Given the description of an element on the screen output the (x, y) to click on. 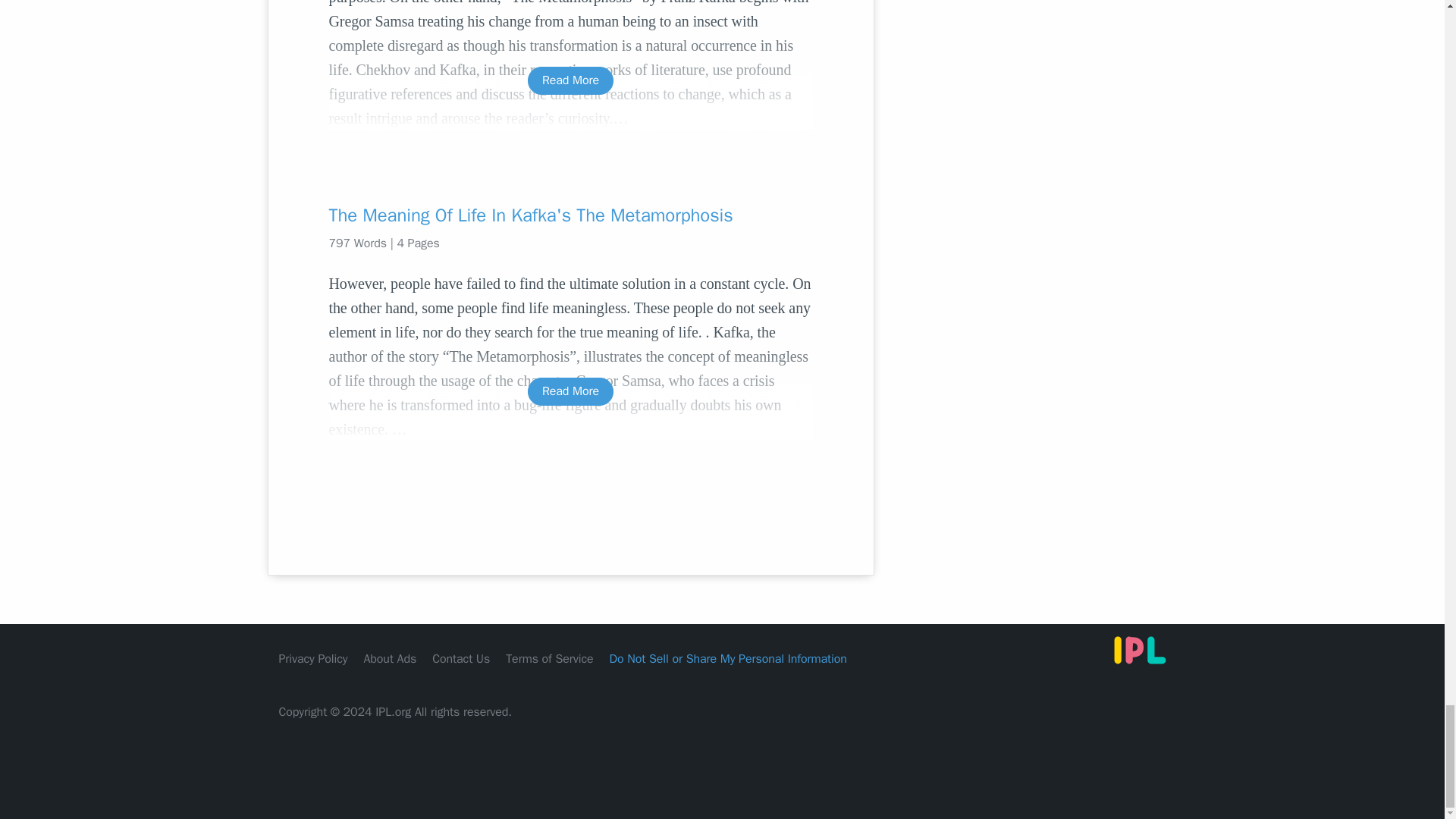
Contact Us (460, 658)
Privacy Policy (313, 658)
About Ads (389, 658)
Terms of Service (548, 658)
